Given the description of an element on the screen output the (x, y) to click on. 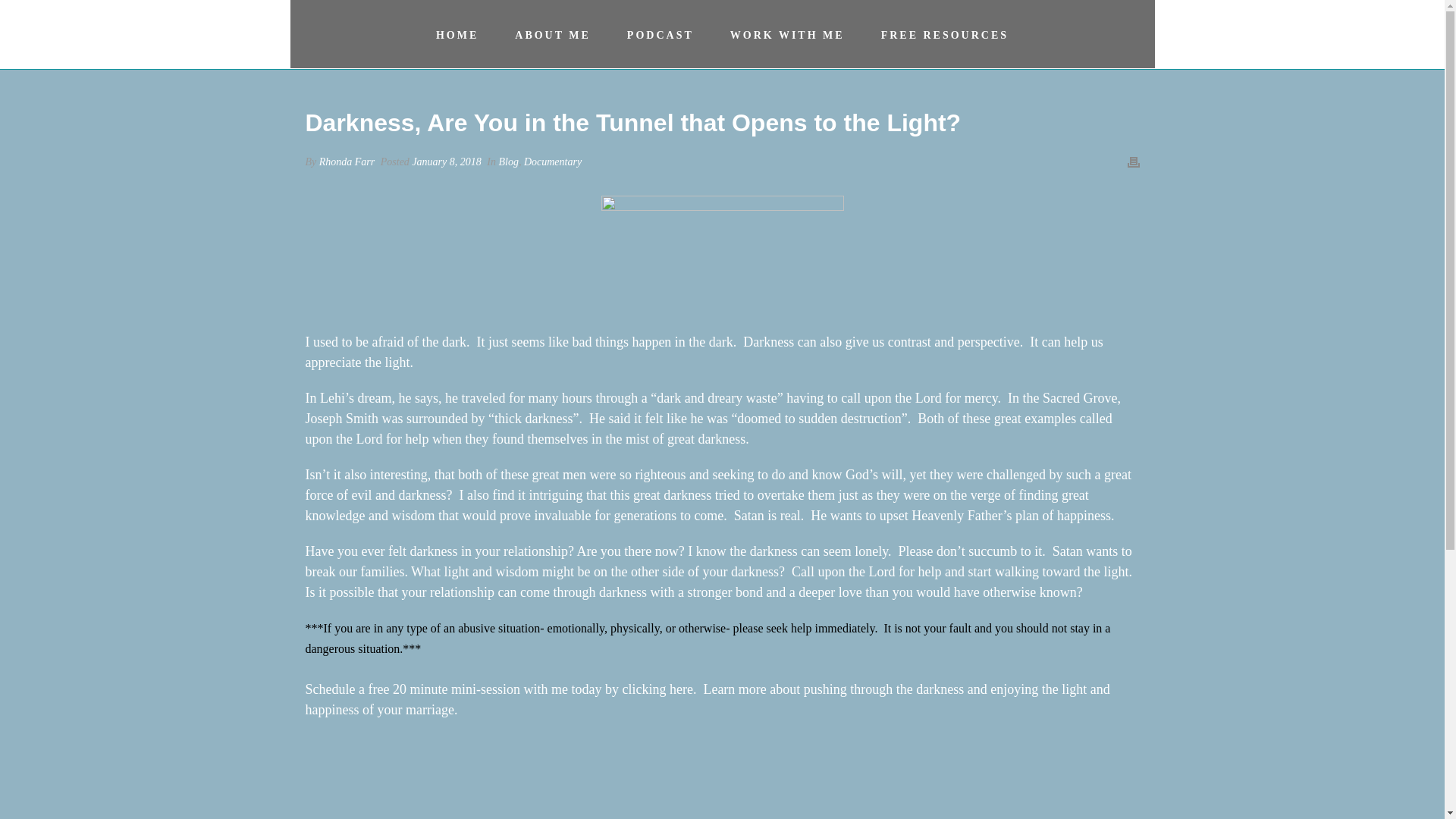
WORK WITH ME (787, 33)
PODCAST (659, 33)
ABOUT ME (552, 33)
HOME (456, 33)
January 8, 2018 (446, 161)
ABOUT ME (552, 33)
FREE RESOURCES (944, 33)
WORK WITH ME (787, 33)
FREE RESOURCES (944, 33)
Rhonda Farr (346, 161)
HOME (456, 33)
Posts by Rhonda Farr (346, 161)
PODCAST (659, 33)
Documentary (552, 161)
here.  (684, 688)
